Given the description of an element on the screen output the (x, y) to click on. 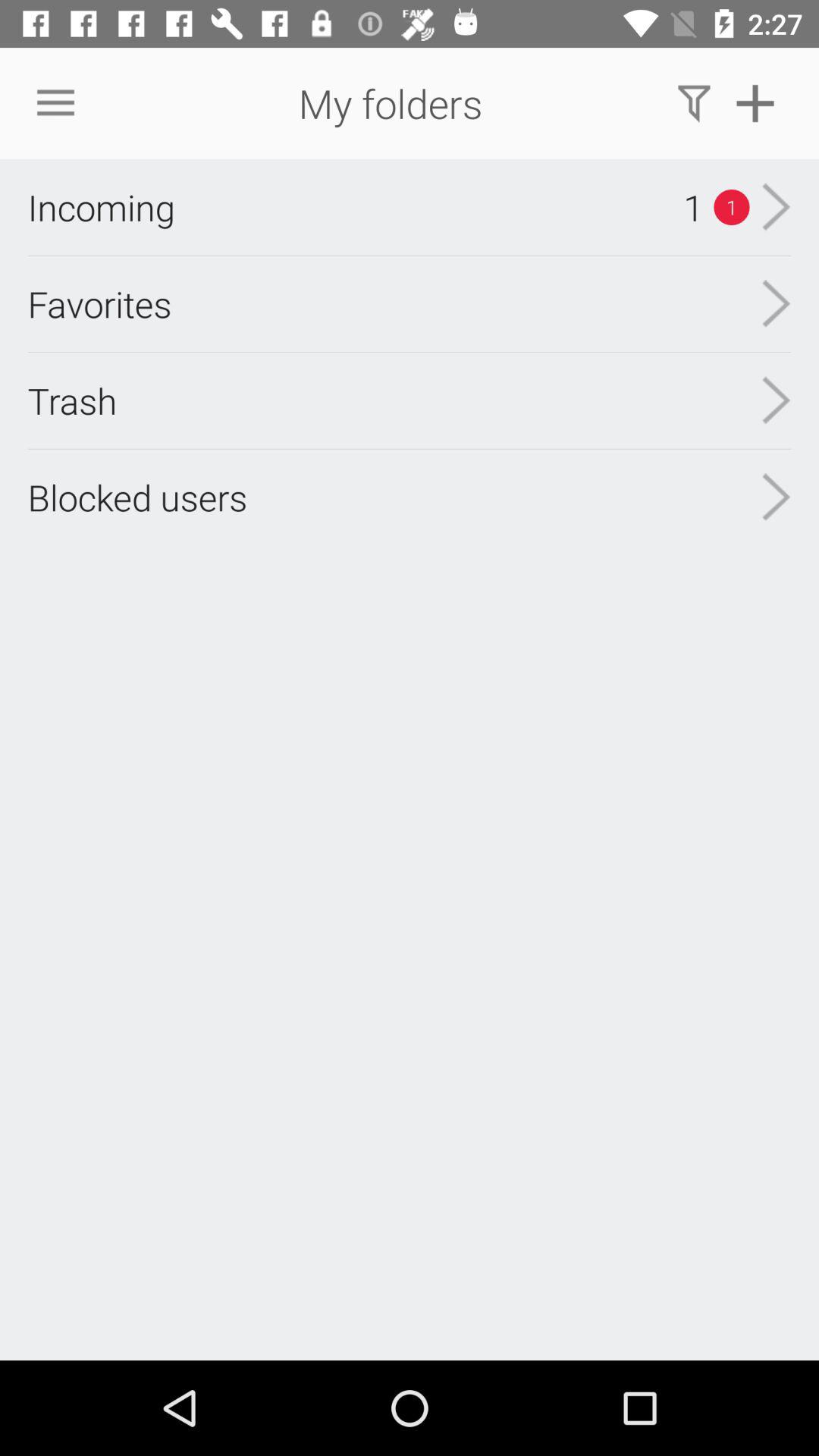
select the item below trash icon (137, 497)
